Given the description of an element on the screen output the (x, y) to click on. 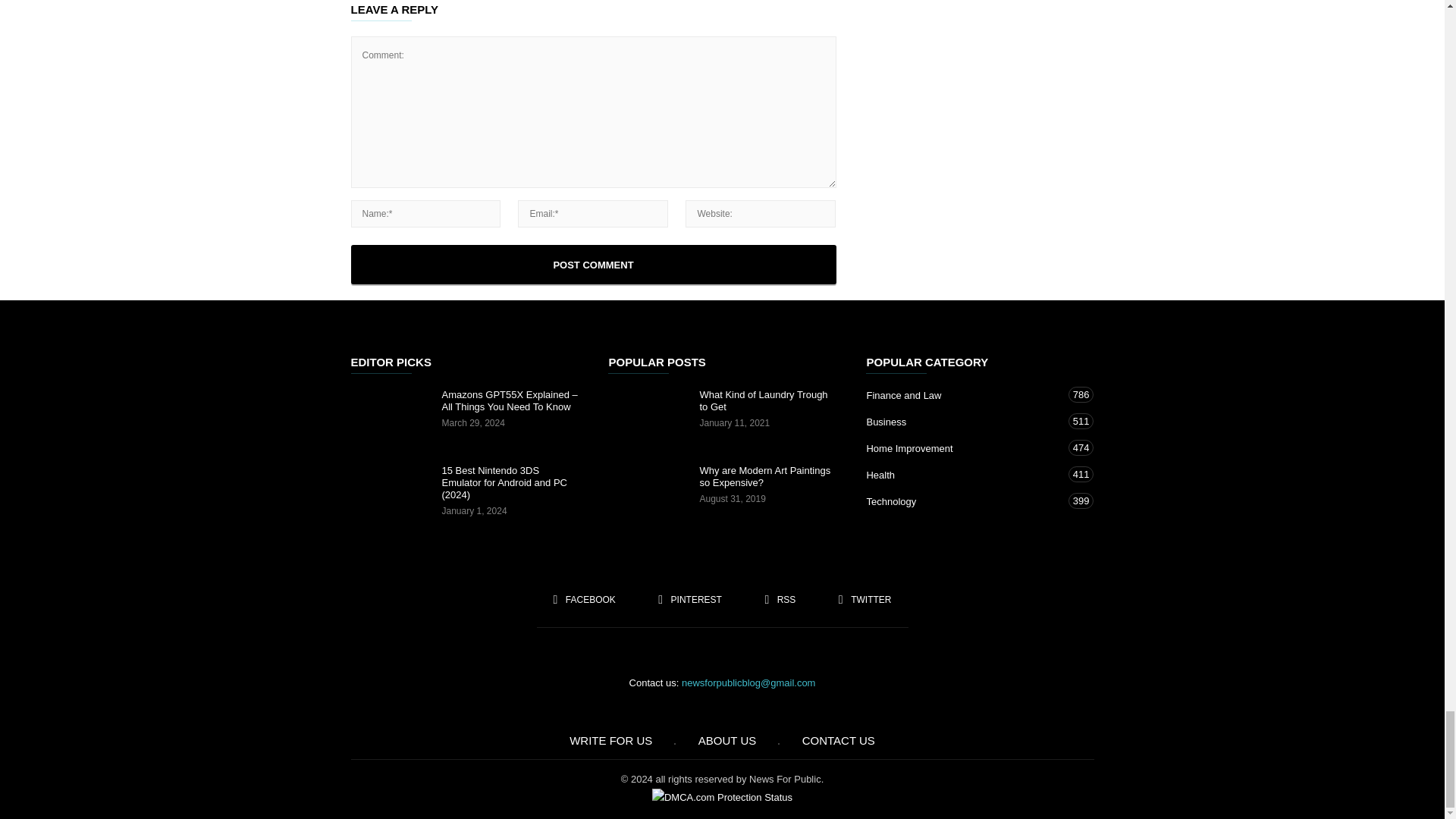
Post Comment (592, 264)
